Given the description of an element on the screen output the (x, y) to click on. 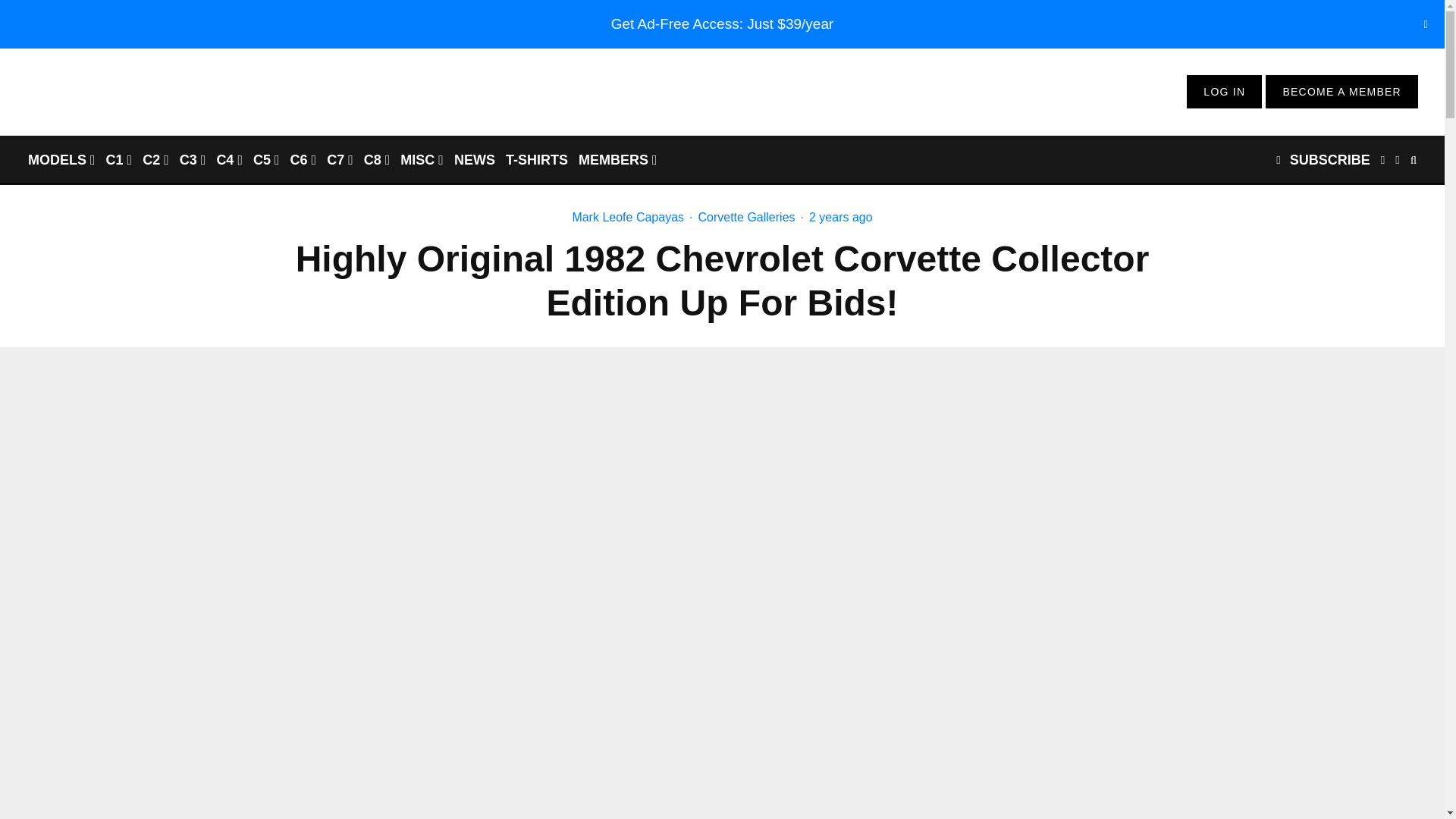
LOG IN (1224, 91)
MODELS (61, 159)
BECOME A MEMBER (1341, 91)
